Given the description of an element on the screen output the (x, y) to click on. 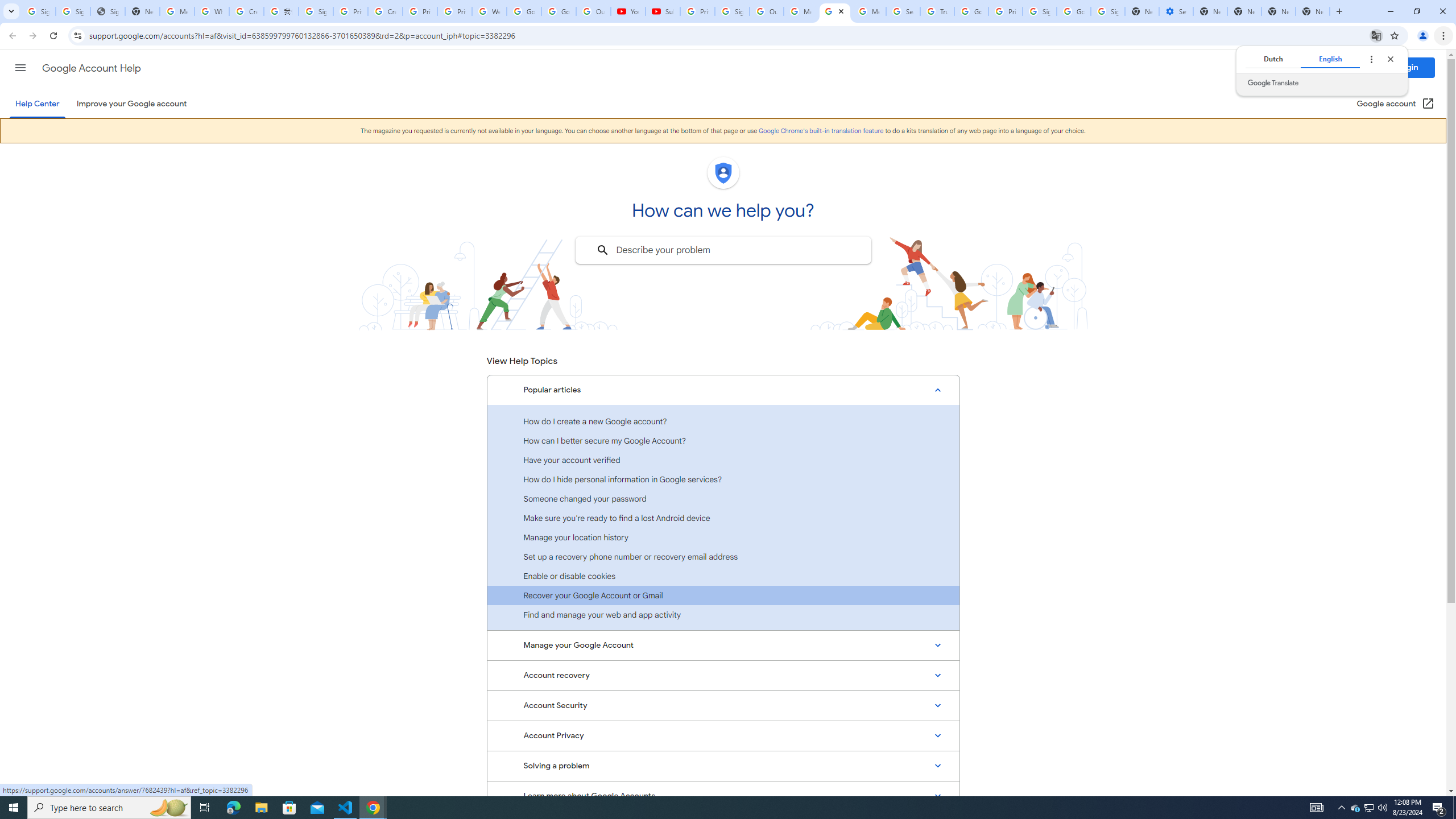
Manage your location history (722, 537)
Trusted Information and Content - Google Safety Center (937, 11)
How can I better secure my Google Account? (722, 440)
Account Privacy (722, 736)
Solving a problem (722, 765)
Popular Articles, Expanded list of 11 items (722, 389)
Sign in - Google Accounts (1039, 11)
Manage your Google Account (722, 645)
Improve your Google account (131, 103)
Who is my administrator? - Google Account Help (211, 11)
Welcome to My Activity (489, 11)
Subscriptions - YouTube (662, 11)
